Given the description of an element on the screen output the (x, y) to click on. 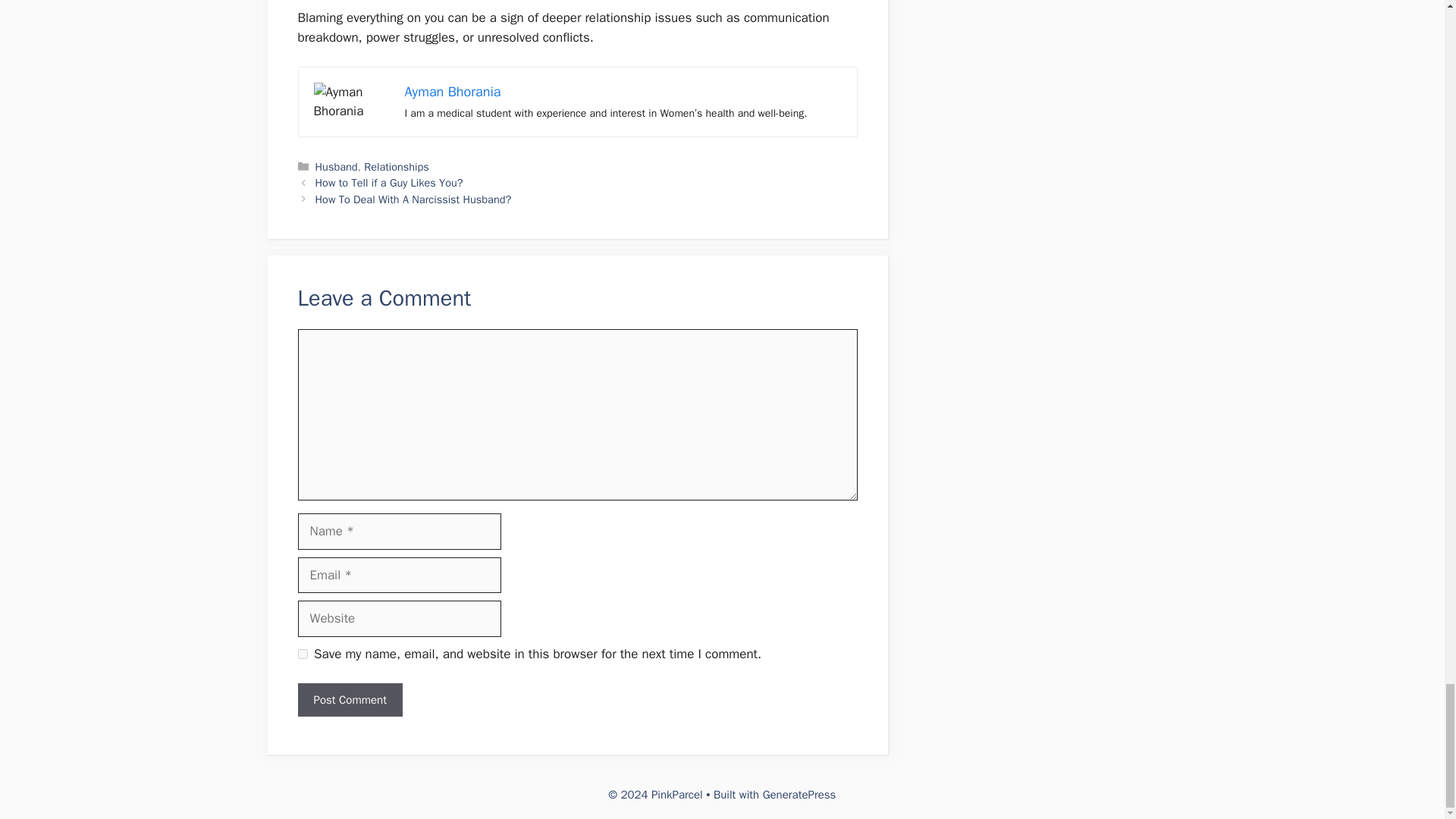
yes (302, 654)
How to Tell if a Guy Likes You? (389, 182)
Husband (336, 166)
Post Comment (349, 699)
How To Deal With A Narcissist Husband? (413, 199)
Post Comment (349, 699)
Ayman Bhorania (452, 91)
Relationships (396, 166)
